Given the description of an element on the screen output the (x, y) to click on. 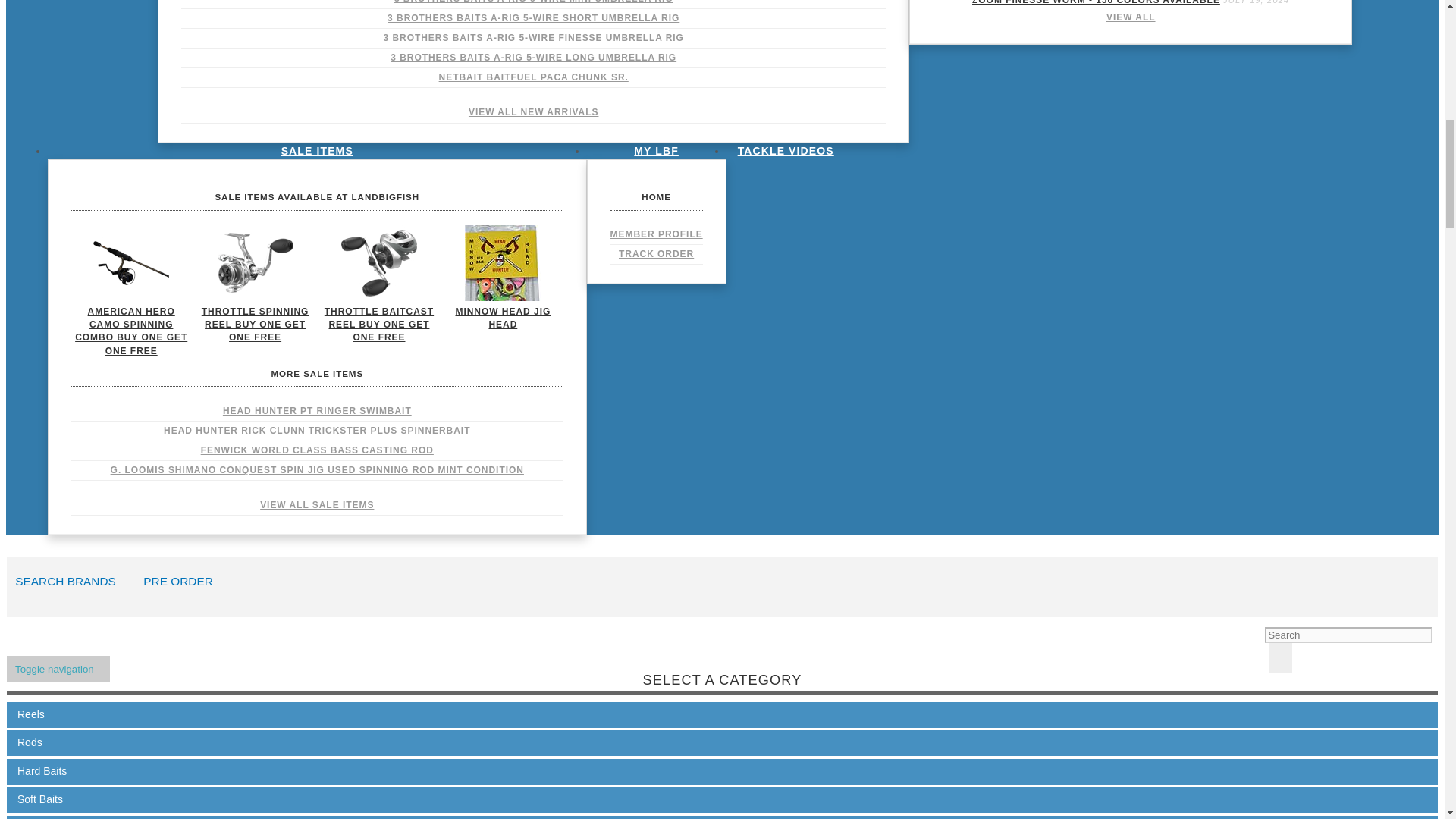
VIEW ALL NEW ARRIVALS (533, 112)
3 BROTHERS BAITS A-RIG 5-WIRE FINESSE UMBRELLA RIG (533, 38)
NETBAIT BAITFUEL PACA CHUNK SR. (533, 77)
Search Brands (69, 585)
3 BROTHERS BAITS A-RIG 5-WIRE SHORT UMBRELLA RIG (533, 18)
Search Brands (181, 585)
3 BROTHERS BAITS A-RIG 5-WIRE LONG UMBRELLA RIG (533, 57)
